Given the description of an element on the screen output the (x, y) to click on. 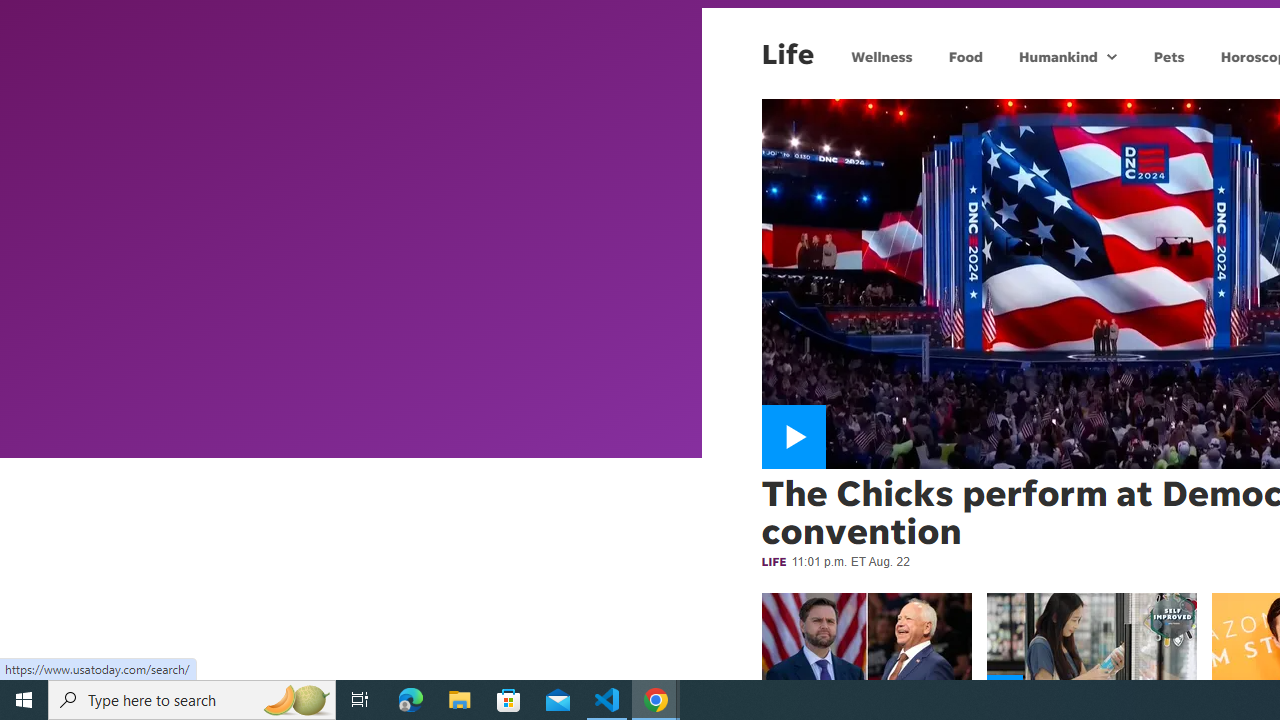
Food (965, 56)
Pets (1168, 56)
More Humankind navigation (1111, 56)
Wellness (881, 56)
Humankind (1055, 56)
